Given the description of an element on the screen output the (x, y) to click on. 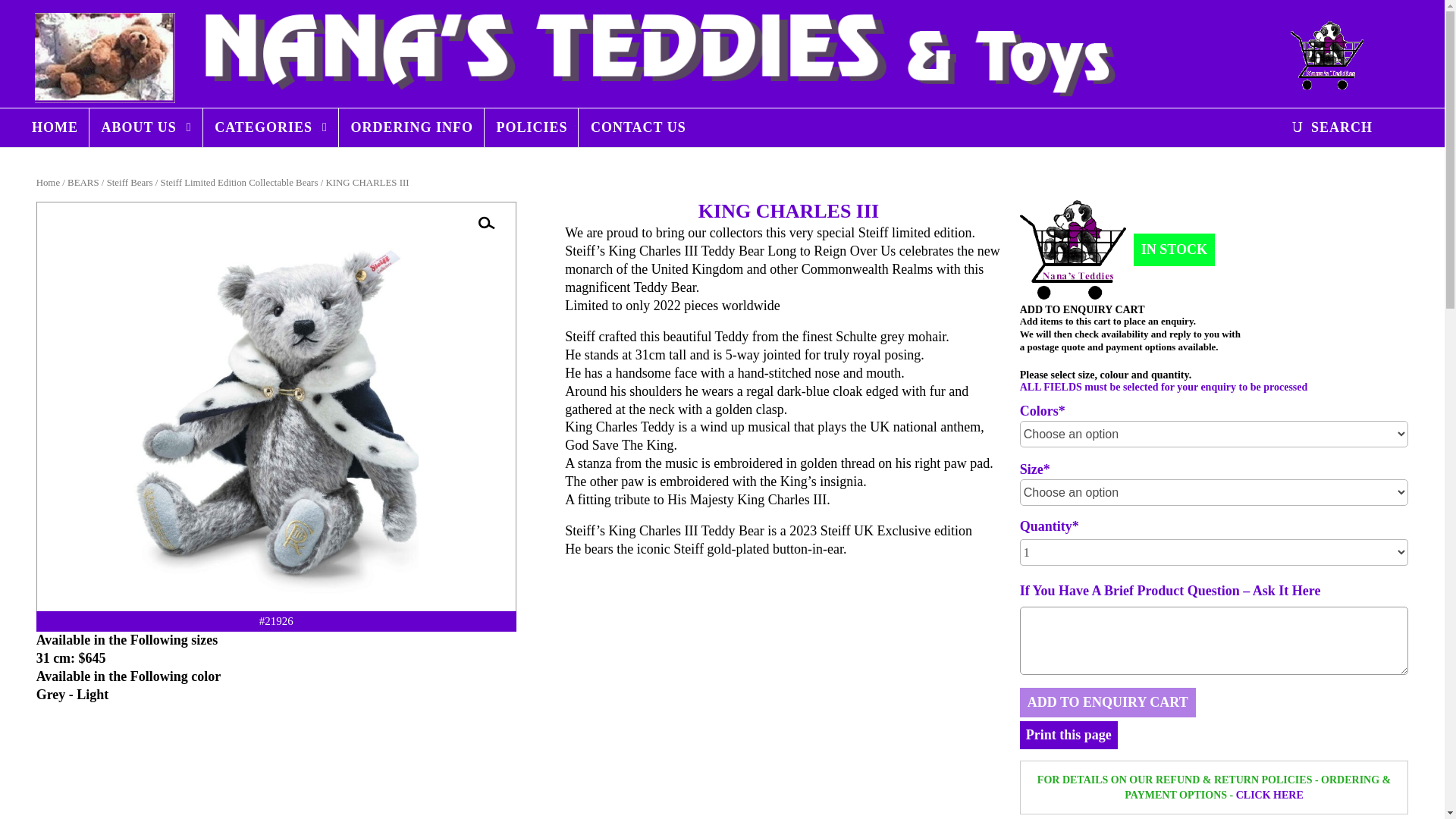
CATEGORIES (270, 127)
ABOUT US (146, 127)
HOME (55, 127)
